Given the description of an element on the screen output the (x, y) to click on. 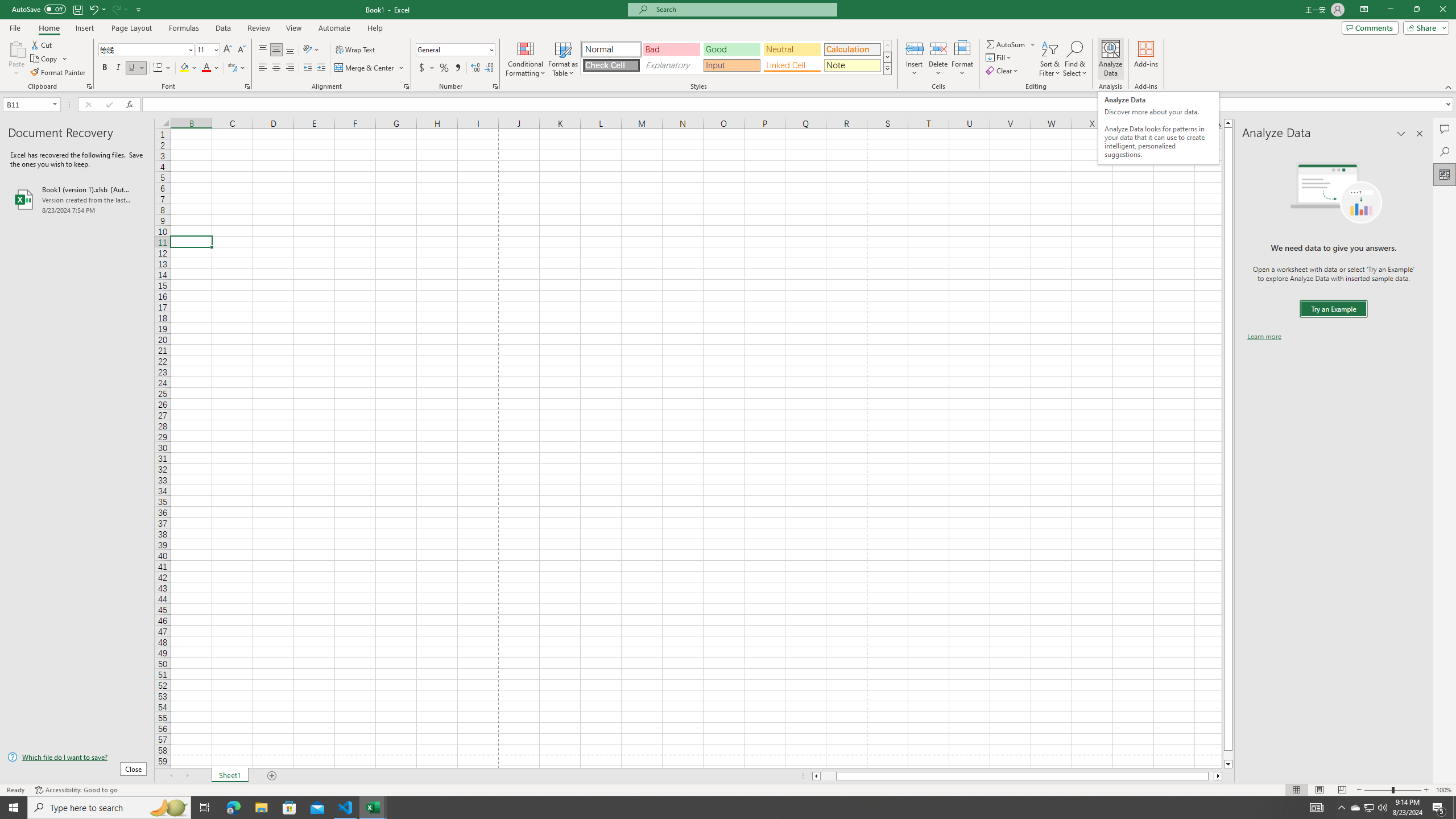
Delete (938, 58)
Task Pane Options (1400, 133)
Class: MsoCommandBar (728, 45)
Office Clipboard... (88, 85)
Redo (119, 9)
Insert (83, 28)
Page left (828, 775)
Copy (45, 58)
Ribbon Display Options (1364, 9)
Check Cell (611, 65)
Merge & Center (369, 67)
Good (731, 49)
Quick Access Toolbar (77, 9)
Page Layout (131, 28)
